Given the description of an element on the screen output the (x, y) to click on. 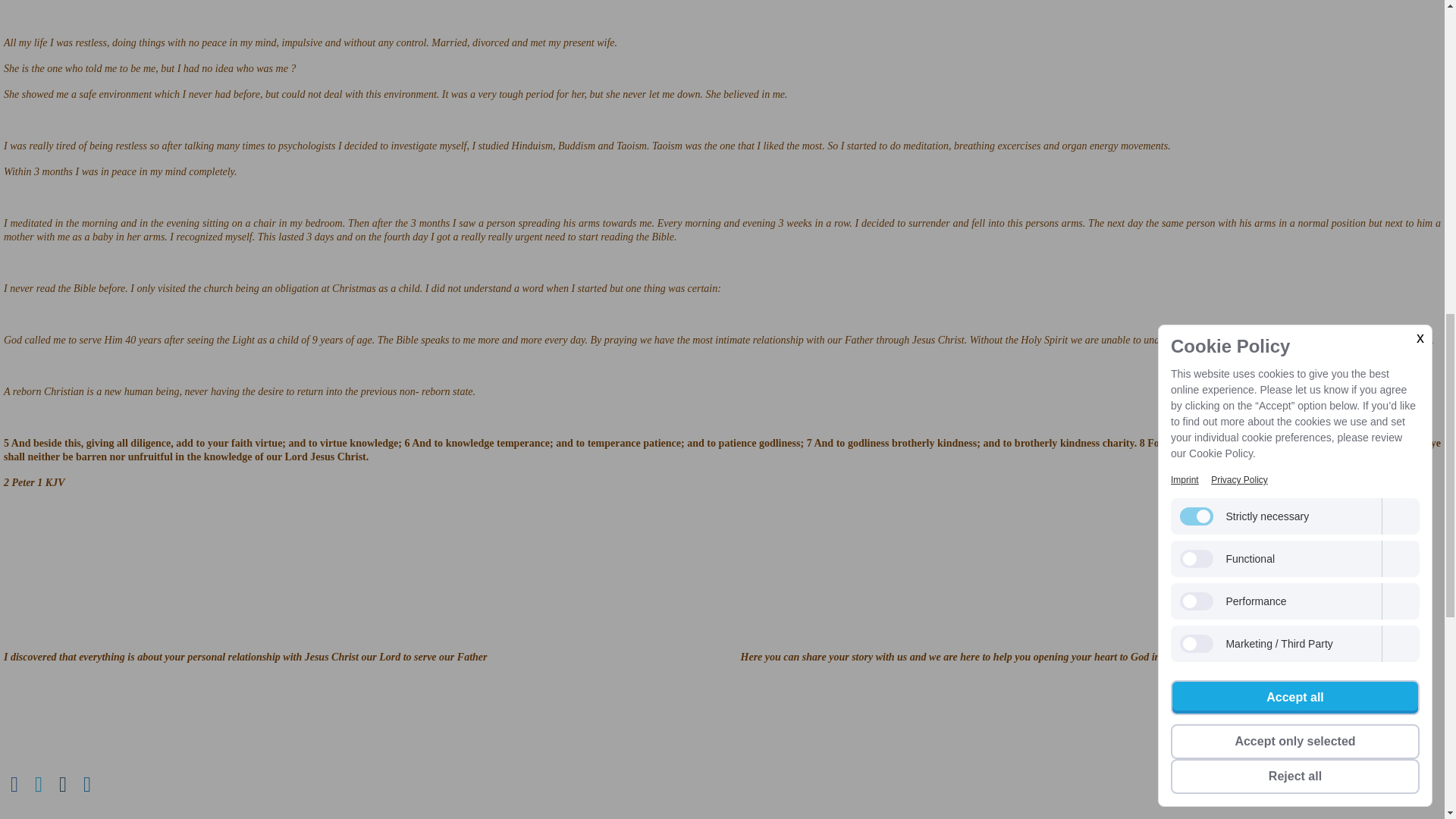
LinkedIn (87, 784)
Email (63, 784)
Twitter (38, 784)
Facebook (14, 784)
